Given the description of an element on the screen output the (x, y) to click on. 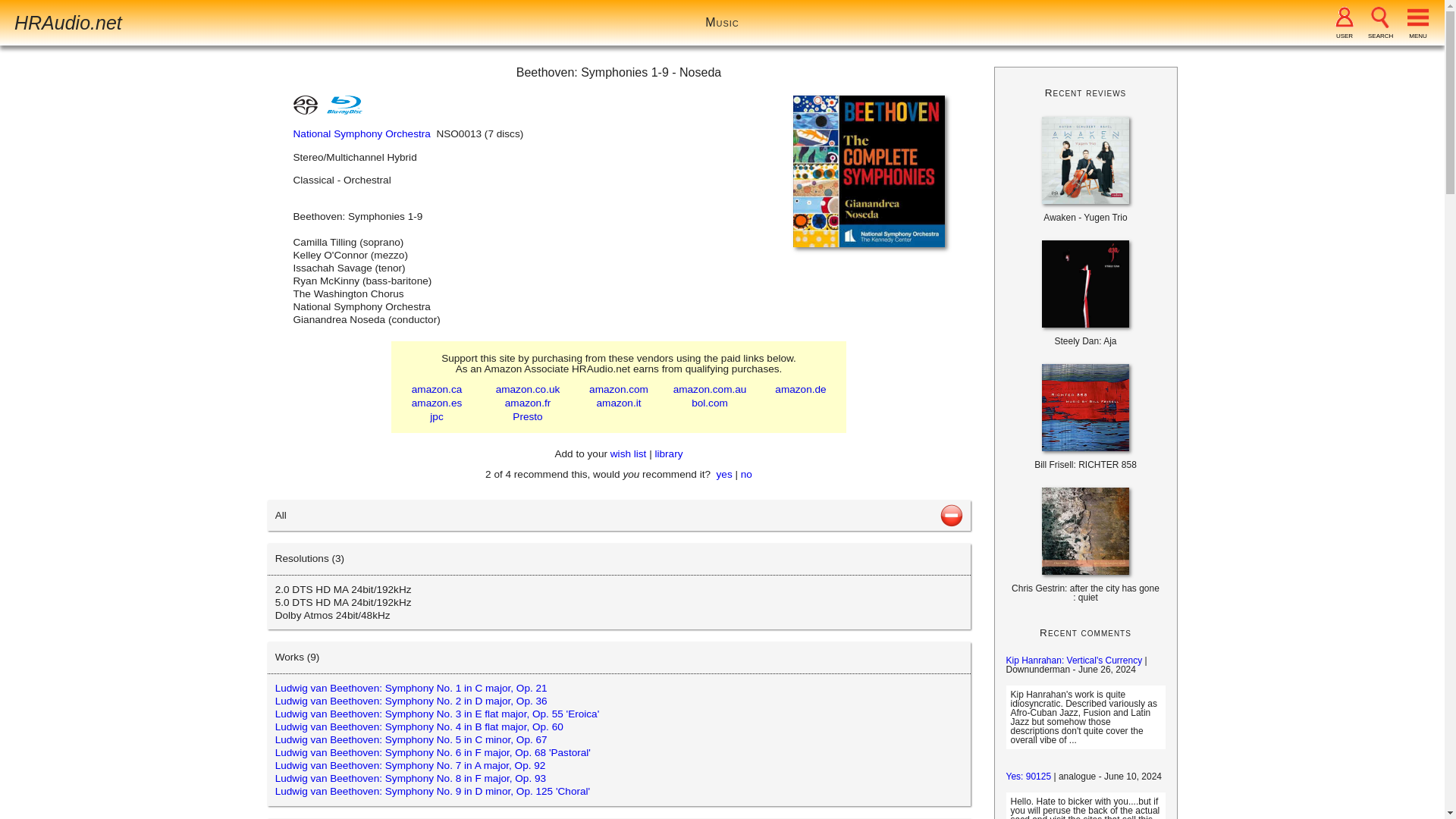
bol.com (709, 402)
amazon.fr (527, 402)
Presto (526, 416)
amazon.com.au (709, 389)
amazon.ca (437, 389)
amazon.co.uk (528, 389)
HRAudio.net (68, 22)
amazon.it (619, 402)
library (667, 453)
amazon.de (799, 389)
